Given the description of an element on the screen output the (x, y) to click on. 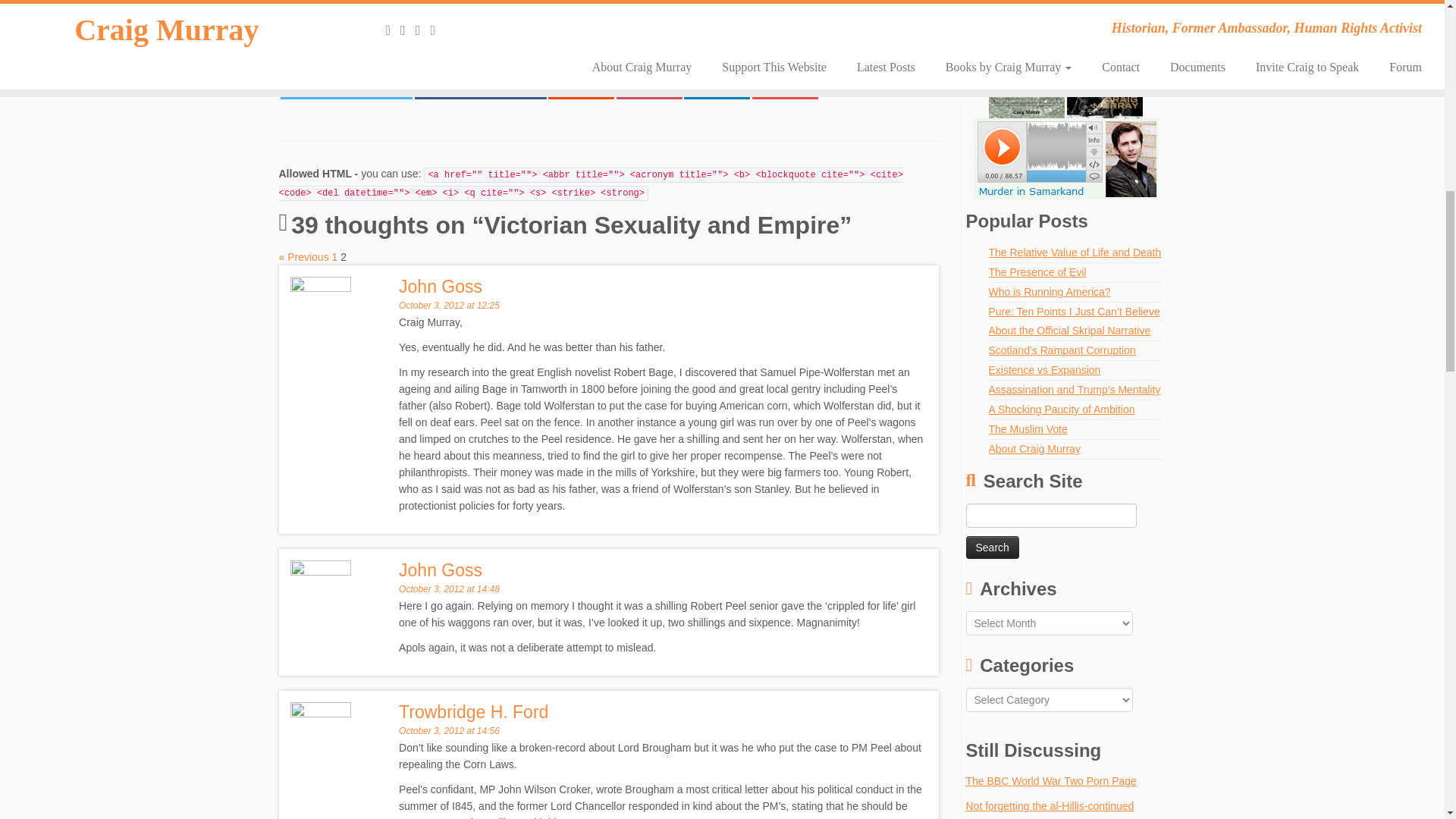
Save to read later on Pocket (479, 85)
Submit to Reddit (648, 85)
October 3, 2012 at 14:48 (581, 85)
View All Latest Posts (448, 588)
Share on Facebook (734, 54)
Tweet on Twitter (479, 85)
Trowbridge H. Ford (346, 85)
TWEET (473, 711)
October 3, 2012 at 12:25 (346, 85)
John Goss (448, 305)
John Goss (439, 569)
Search (439, 285)
October 3, 2012 at 14:56 (992, 547)
